Given the description of an element on the screen output the (x, y) to click on. 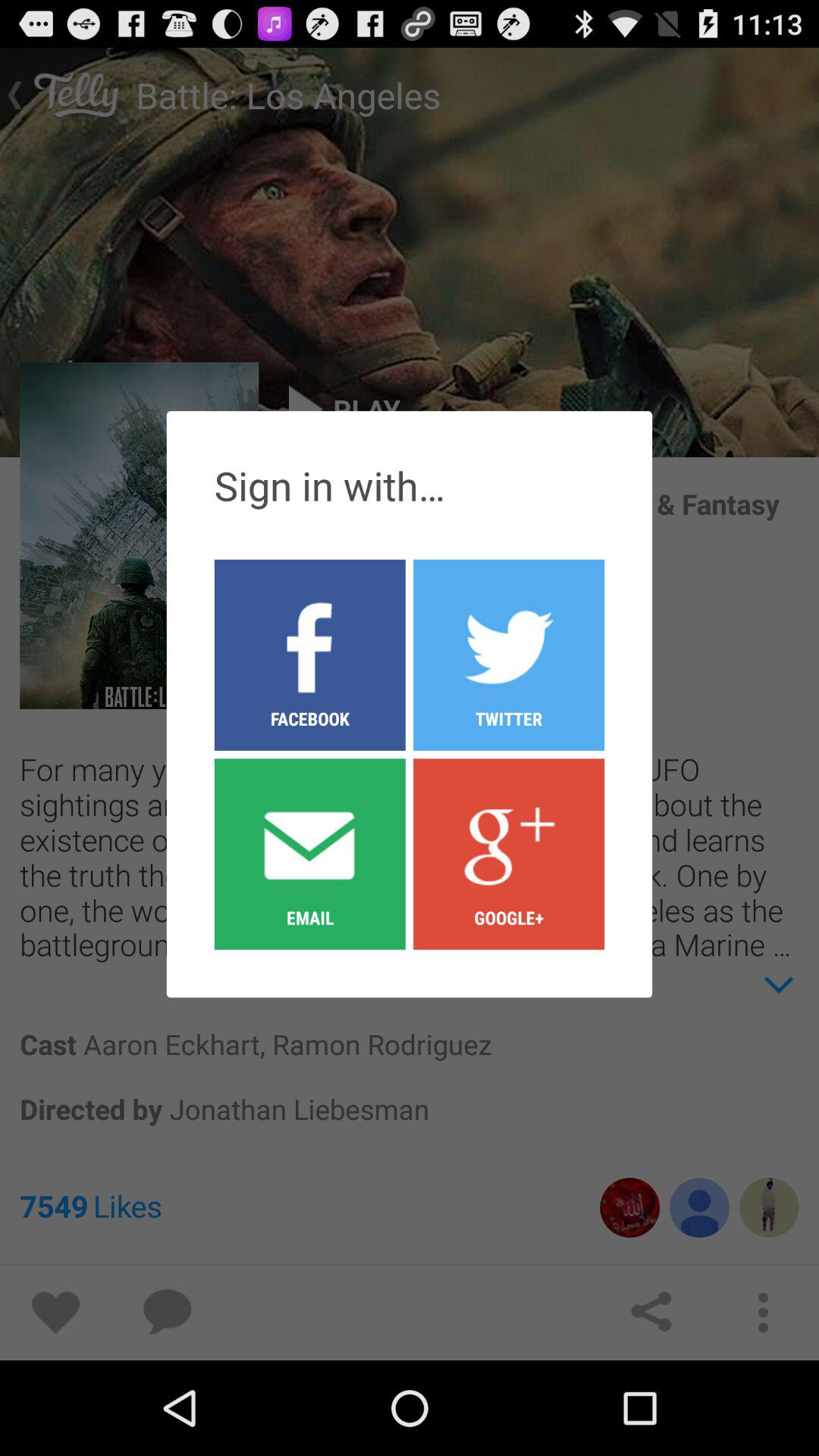
turn off the button next to facebook item (508, 853)
